Given the description of an element on the screen output the (x, y) to click on. 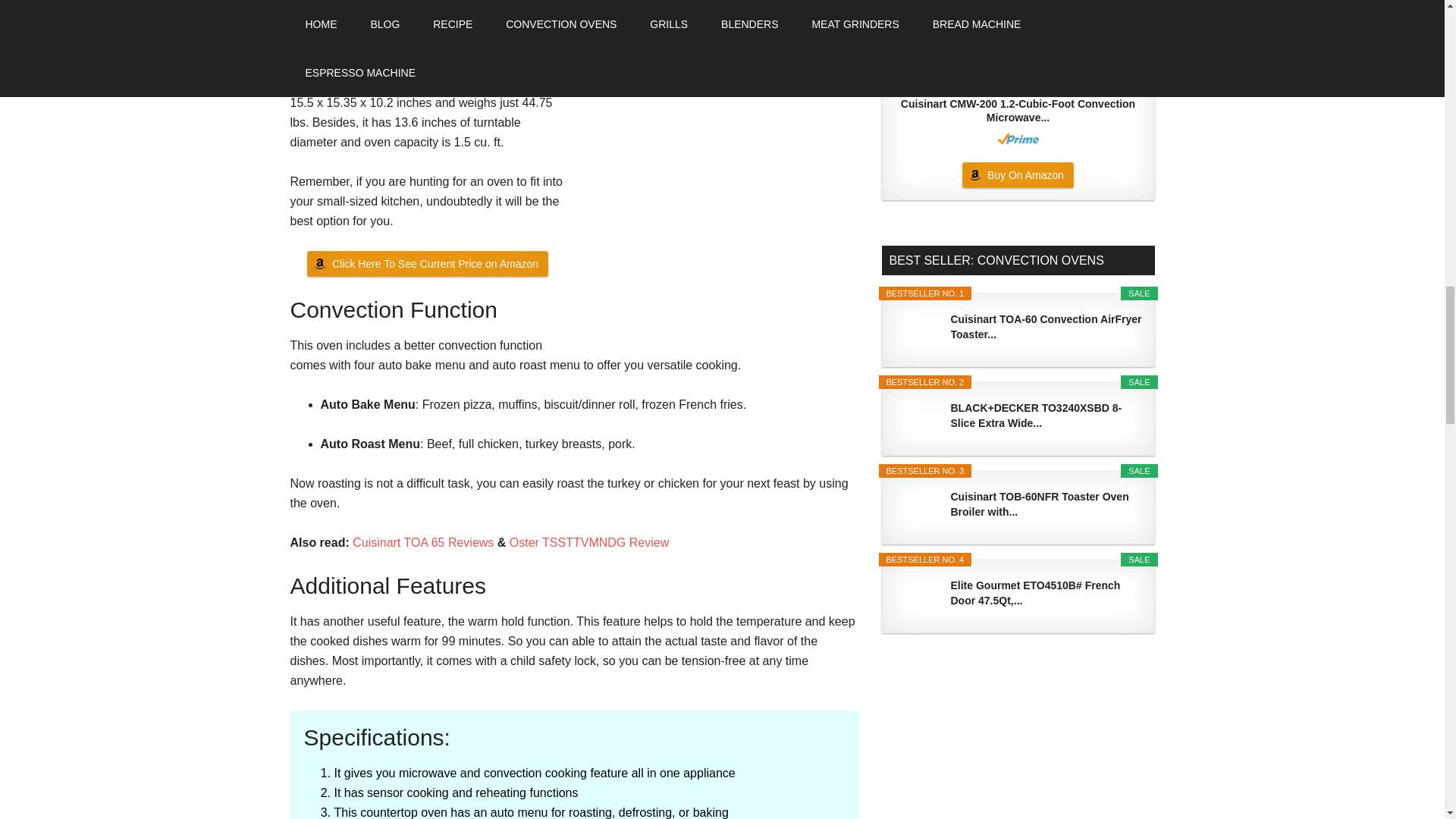
Oster TSSTTVMNDG Review (588, 542)
Cuisinart TOA 65 Reviews (422, 542)
Click Here To See Current Price on Amazon (427, 263)
Click Here To See Current Price on Amazon (427, 263)
